Given the description of an element on the screen output the (x, y) to click on. 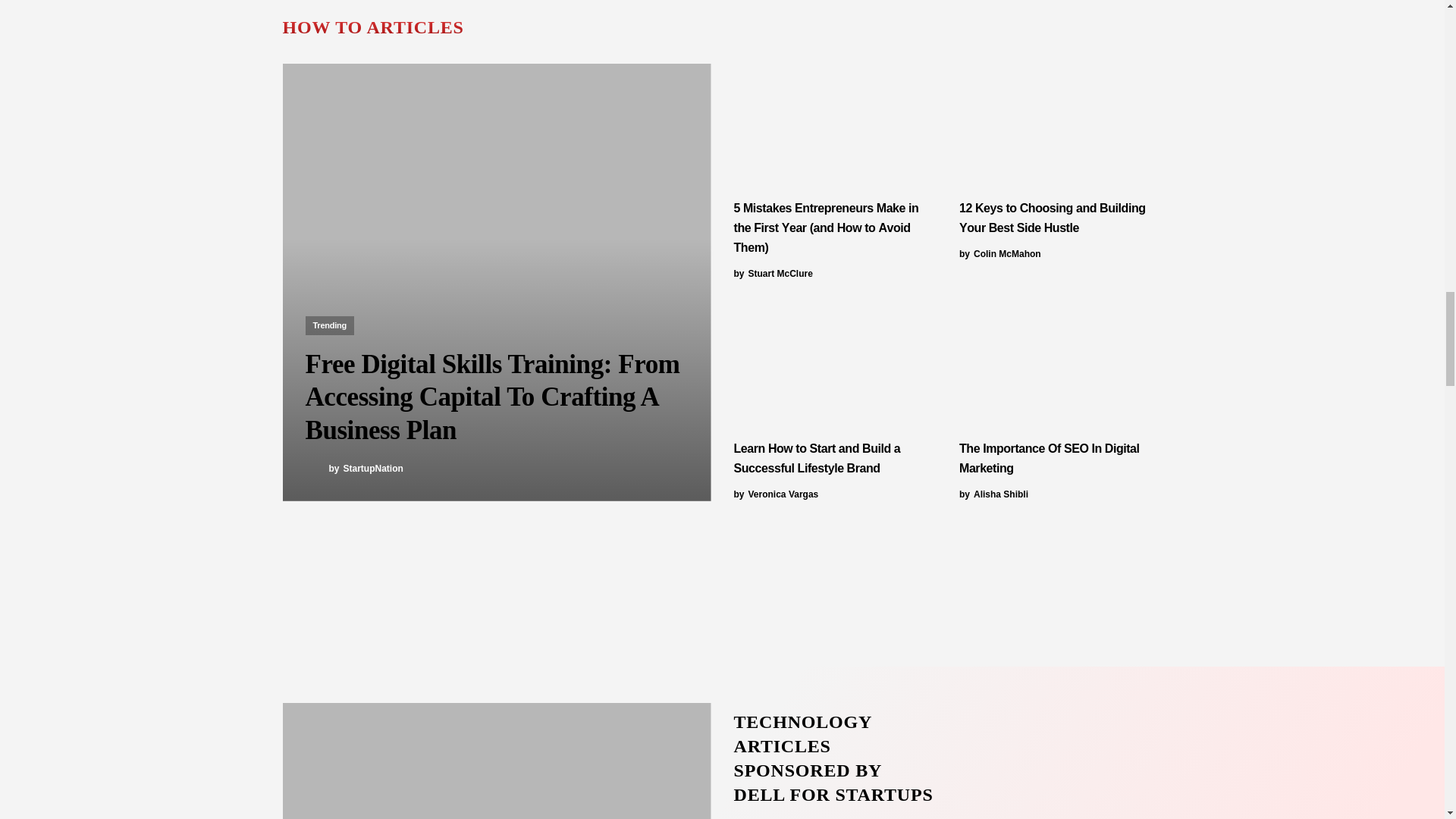
View all posts by Stuart McClure (772, 273)
View all posts by Colin McMahon (1000, 254)
View all posts by Veronica Vargas (775, 494)
View all posts by StartupNation (353, 468)
